Given the description of an element on the screen output the (x, y) to click on. 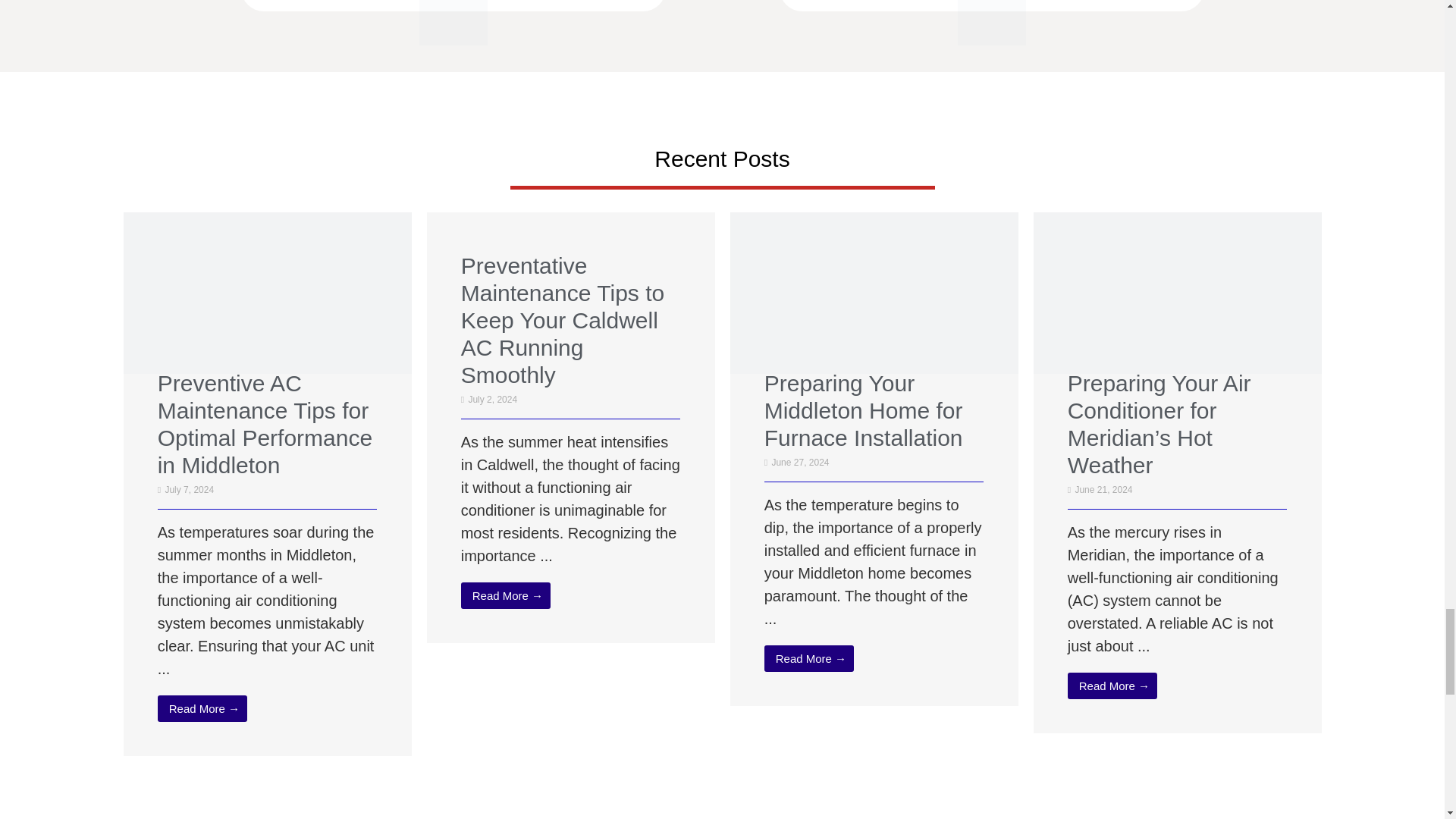
Preparing Your Middleton Home for Furnace Installation (873, 369)
